Given the description of an element on the screen output the (x, y) to click on. 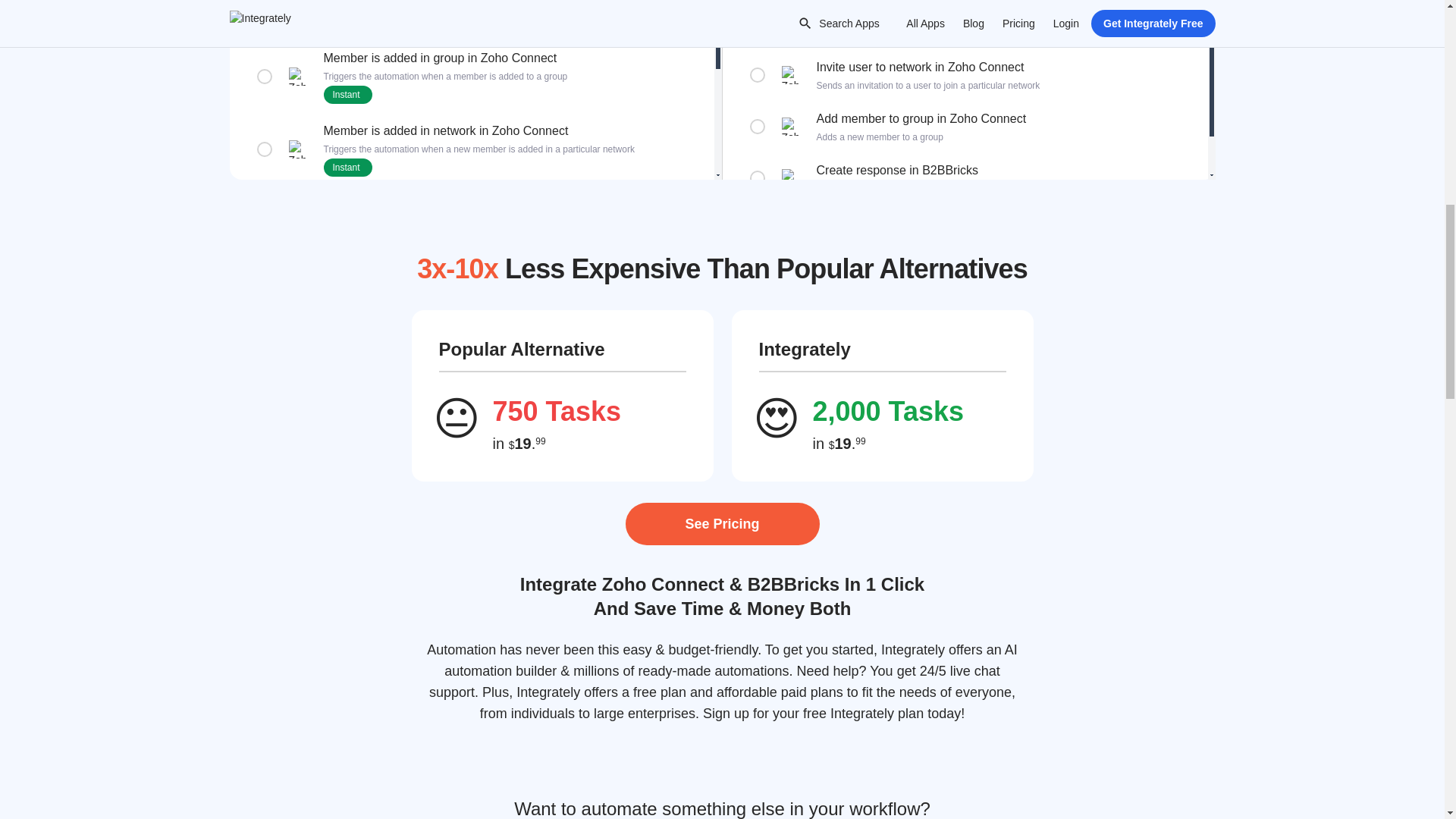
See Pricing (721, 523)
